Given the description of an element on the screen output the (x, y) to click on. 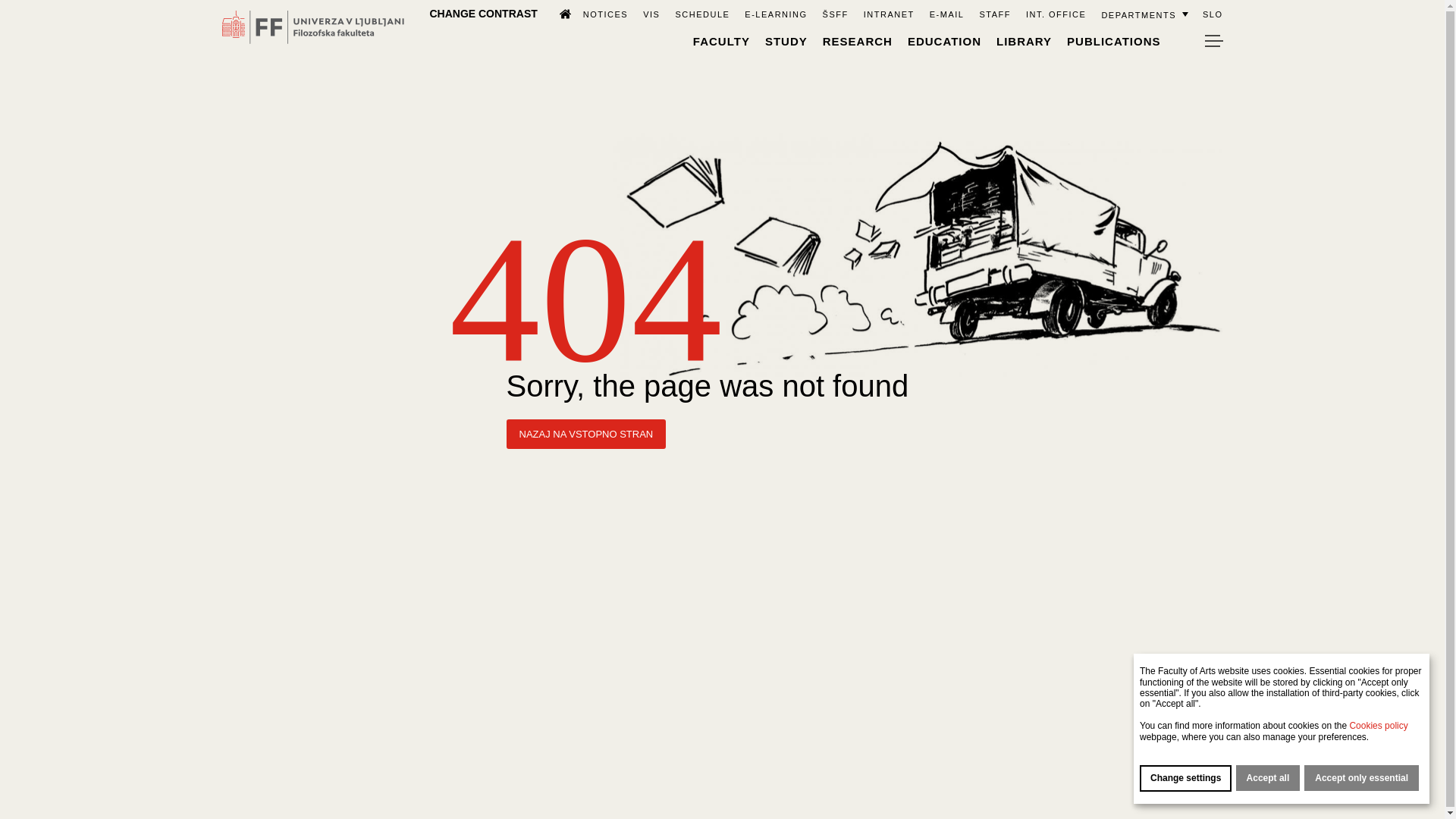
E-MAIL (946, 13)
CHANGE CONTRAST (483, 13)
Home (558, 13)
Intranet (888, 13)
SCHEDULE (702, 13)
STUDY (786, 41)
RESEARCH (857, 41)
INT. OFFICE (1056, 13)
SLO (1212, 13)
VIS (651, 13)
HOME (558, 13)
E-LEARNING (775, 13)
Zaposleni (994, 13)
NOTICES (605, 13)
